Given the description of an element on the screen output the (x, y) to click on. 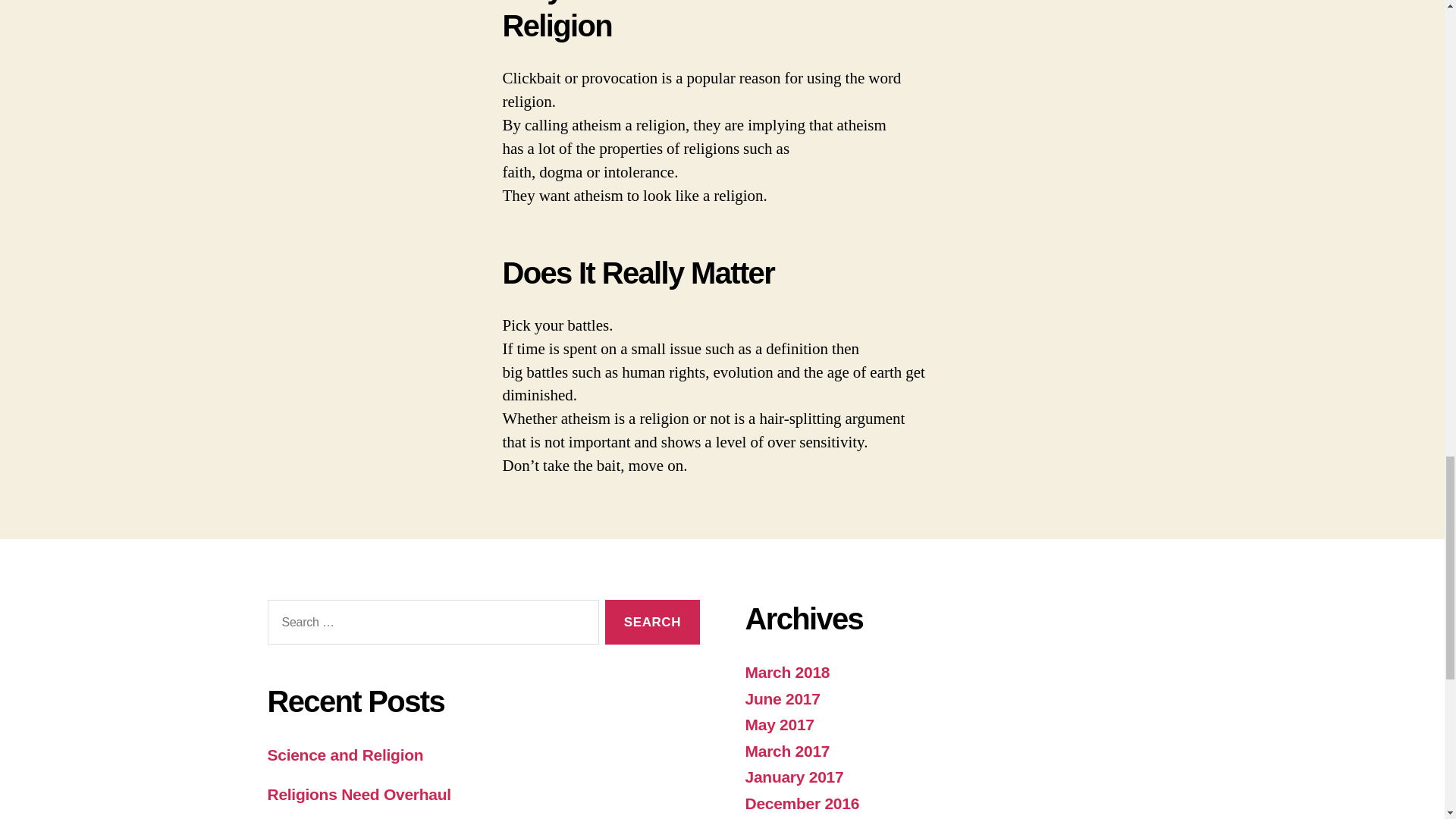
Search (651, 621)
Science and Religion (344, 754)
January 2017 (793, 776)
December 2016 (801, 803)
March 2018 (786, 671)
May 2017 (778, 724)
March 2017 (786, 751)
June 2017 (781, 698)
Religions Need Overhaul (357, 794)
Search (651, 621)
Search (651, 621)
